Given the description of an element on the screen output the (x, y) to click on. 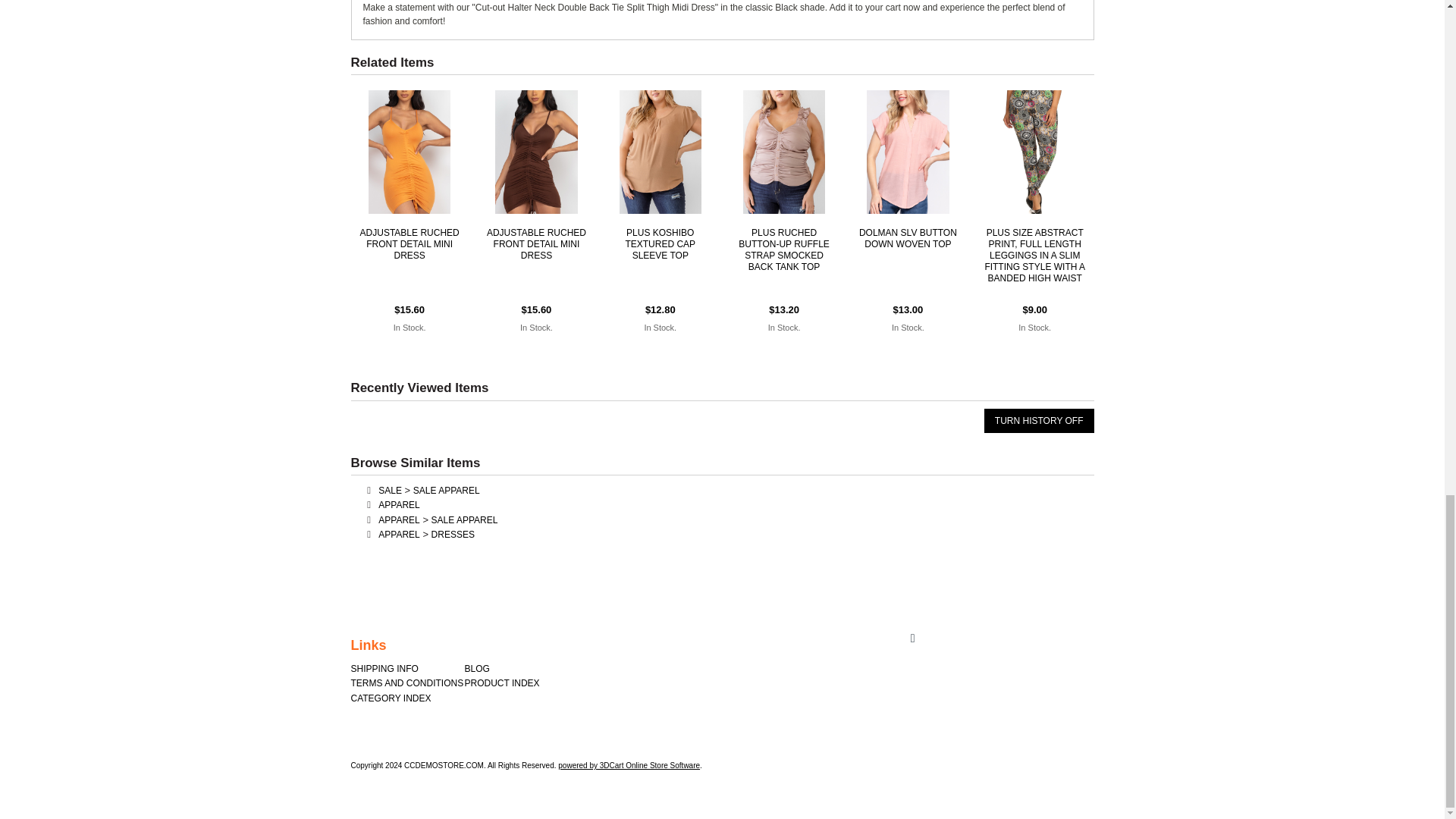
Turn History Off (1039, 419)
